Given the description of an element on the screen output the (x, y) to click on. 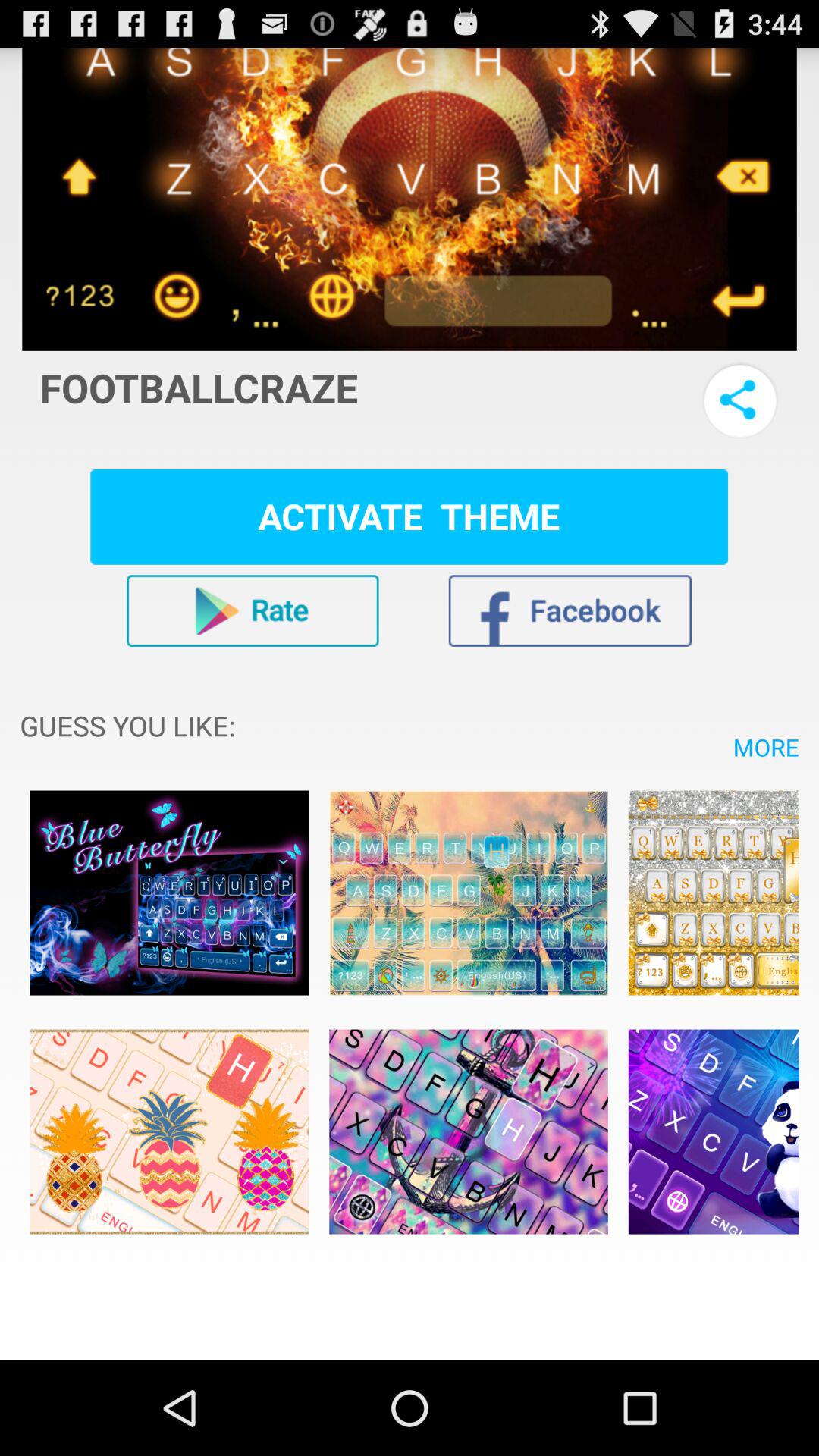
virtual keyboard theme (468, 892)
